Given the description of an element on the screen output the (x, y) to click on. 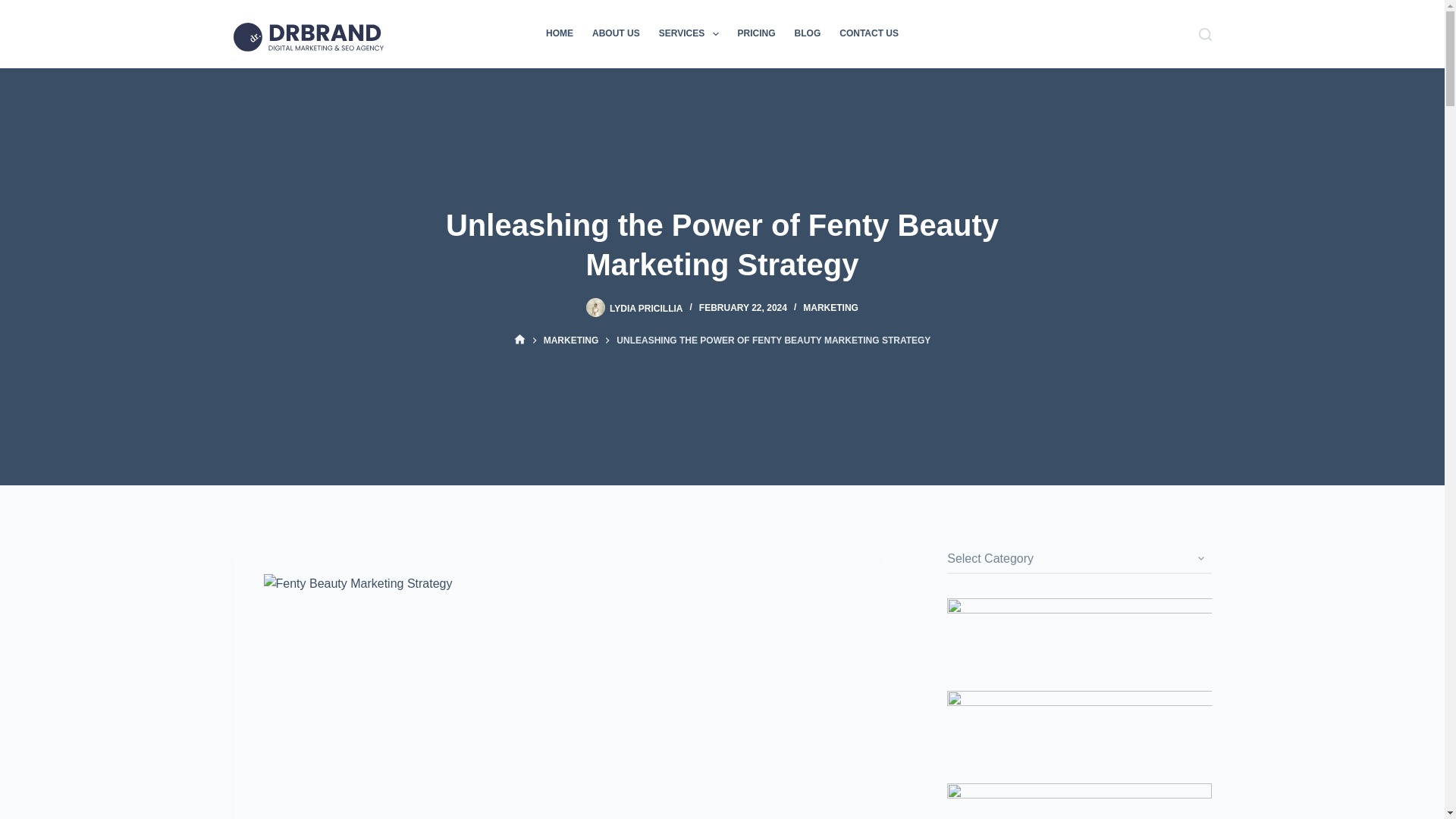
Posts by Lydia Pricillia (646, 307)
ABOUT US (615, 33)
Skip to content (15, 7)
SERVICES (688, 33)
Unleashing the Power of Fenty Beauty Marketing Strategy (722, 244)
